Given the description of an element on the screen output the (x, y) to click on. 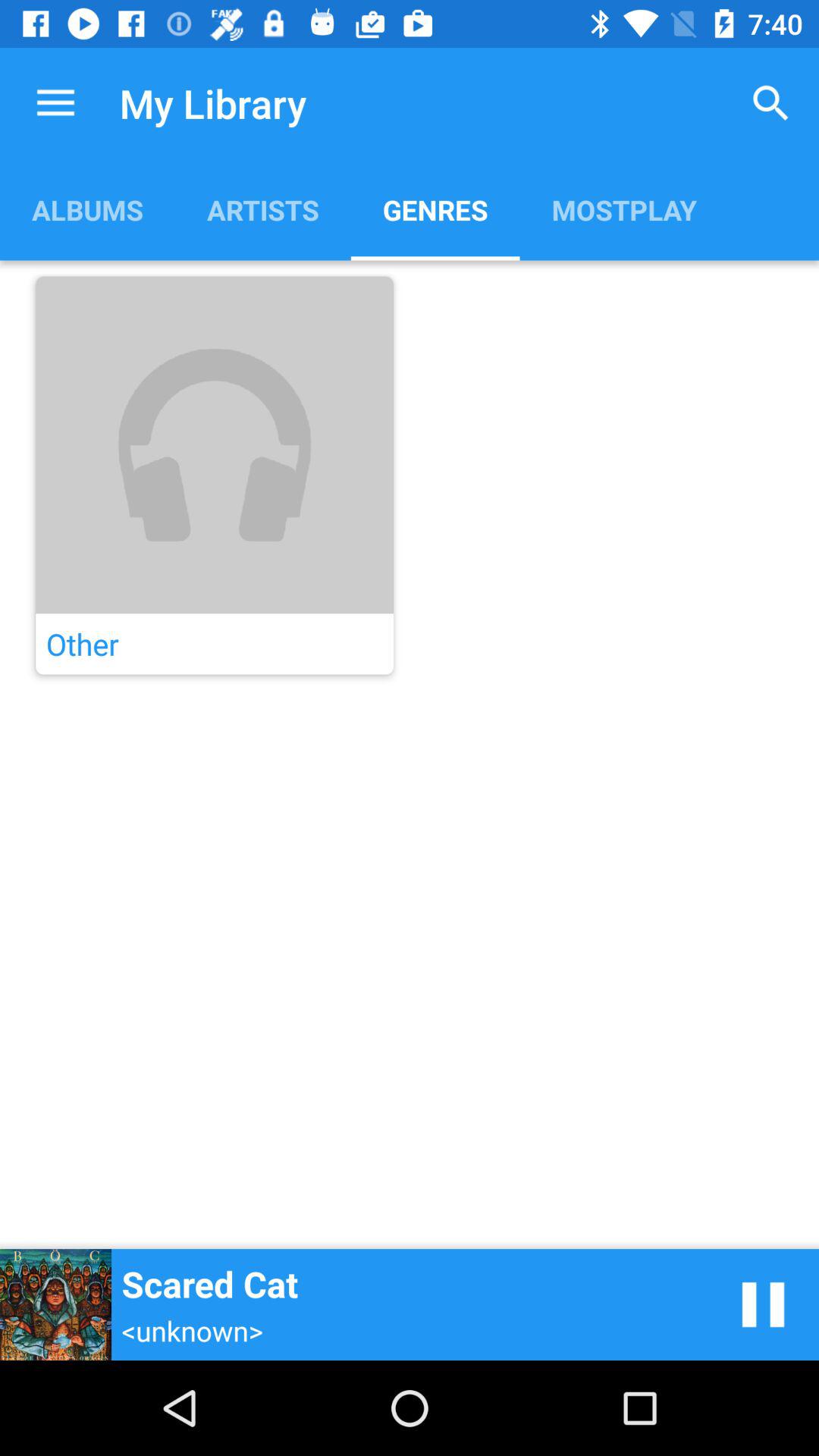
jump until the mostplay (623, 209)
